Given the description of an element on the screen output the (x, y) to click on. 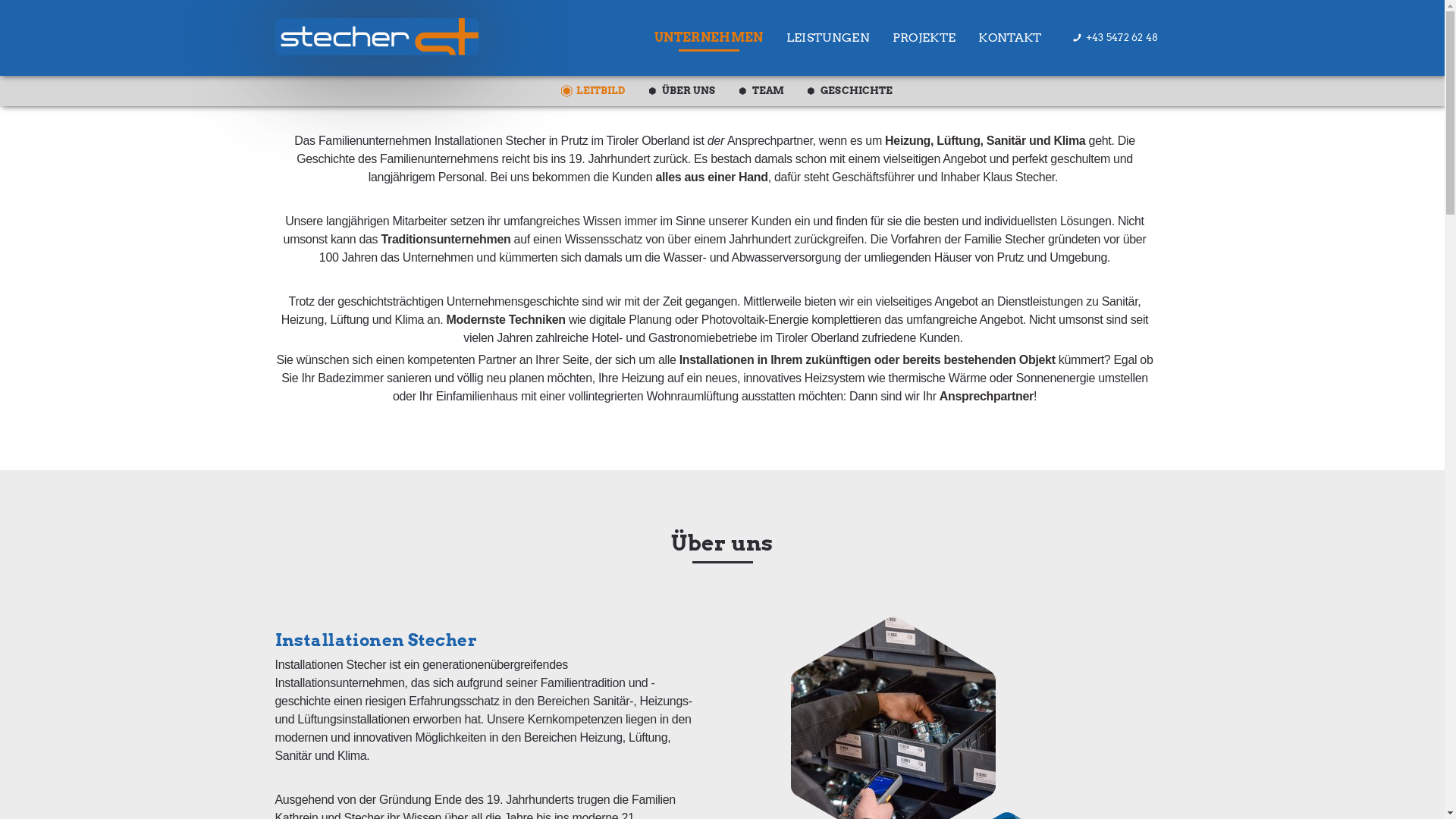
LEISTUNGEN Element type: text (828, 32)
+43 5472 62 48 Element type: text (1115, 32)
UNTERNEHMEN Element type: text (709, 32)
GESCHICHTE Element type: text (856, 90)
PROJEKTE Element type: text (924, 32)
TEAM Element type: text (768, 90)
KONTAKT Element type: text (1009, 32)
LEITBILD Element type: text (600, 90)
